Given the description of an element on the screen output the (x, y) to click on. 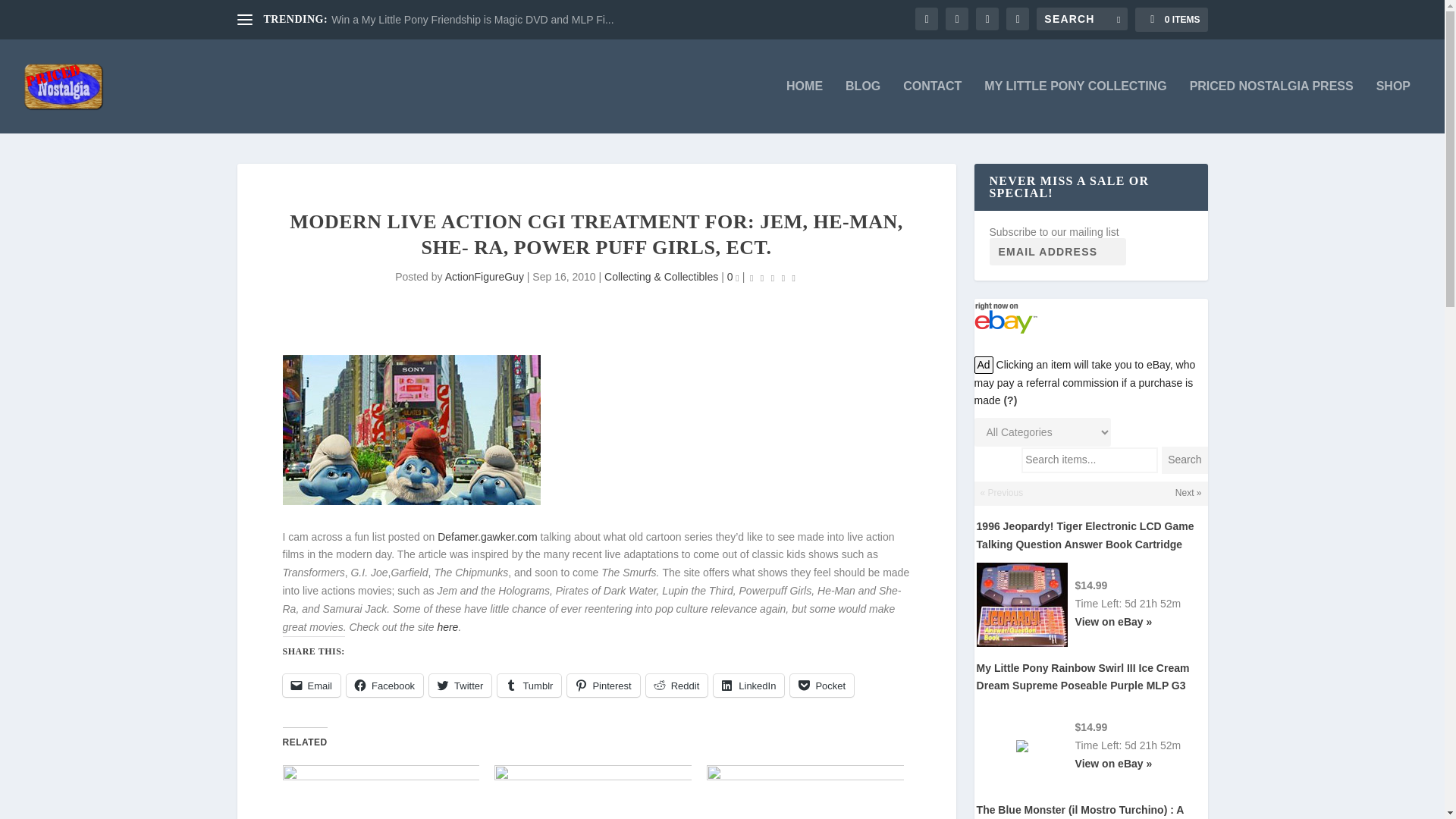
Win a My Little Pony Friendship is Magic DVD and MLP Fi... (471, 19)
Click to email a link to a friend (311, 685)
Click to share on Pinterest (603, 685)
Rating: 0.00 (772, 277)
PRICED NOSTALGIA PRESS (1271, 106)
Click to share on Tumblr (528, 685)
CONTACT (931, 106)
Click to share on Reddit (676, 685)
MY LITTLE PONY COLLECTING (1075, 106)
Click to share on Facebook (384, 685)
0 Items in Cart (1171, 19)
Click to share on LinkedIn (748, 685)
Click to share on Twitter (460, 685)
Posts by ActionFigureGuy (484, 276)
Search for: (1081, 18)
